Given the description of an element on the screen output the (x, y) to click on. 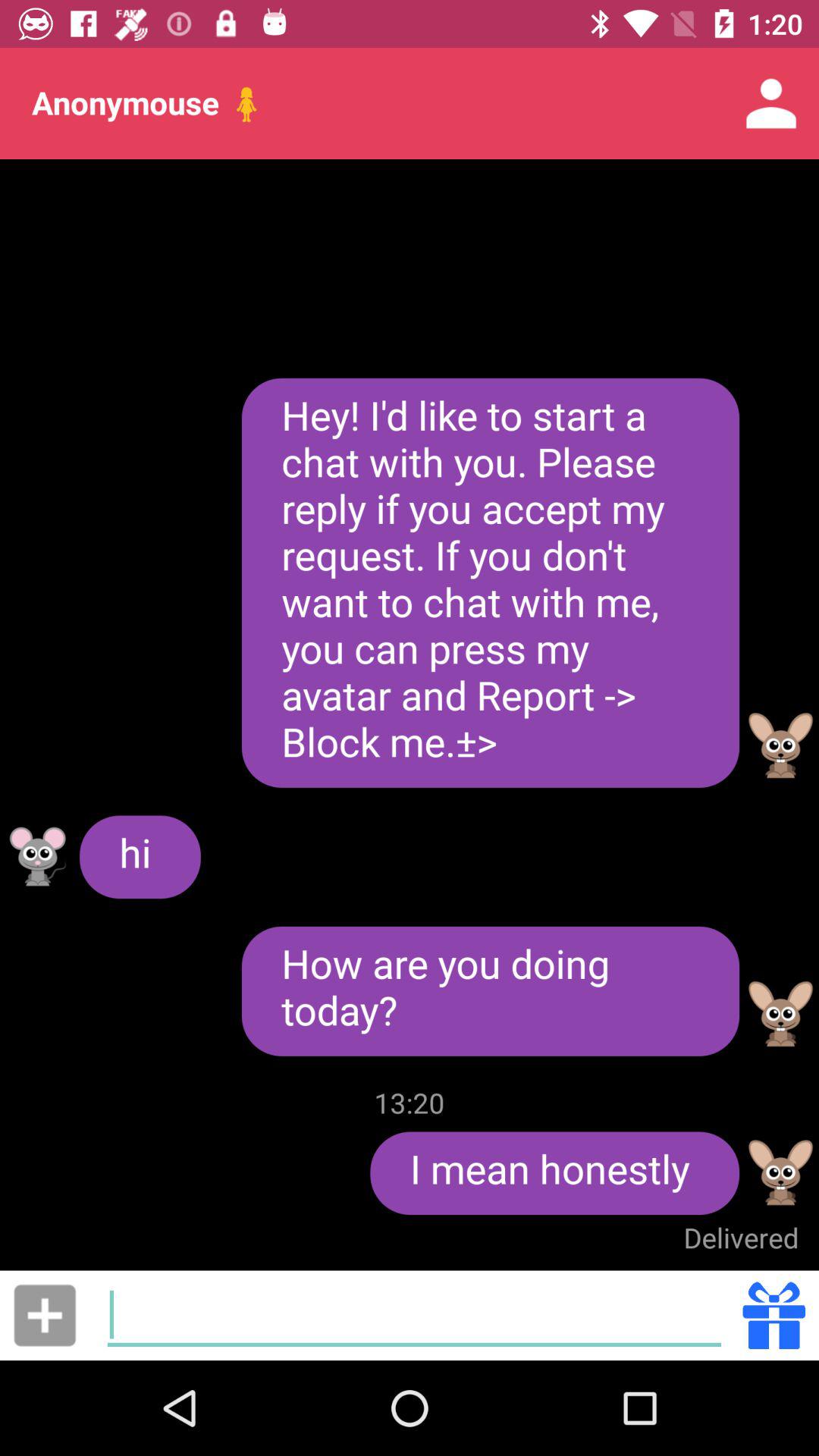
type box (414, 1315)
